Given the description of an element on the screen output the (x, y) to click on. 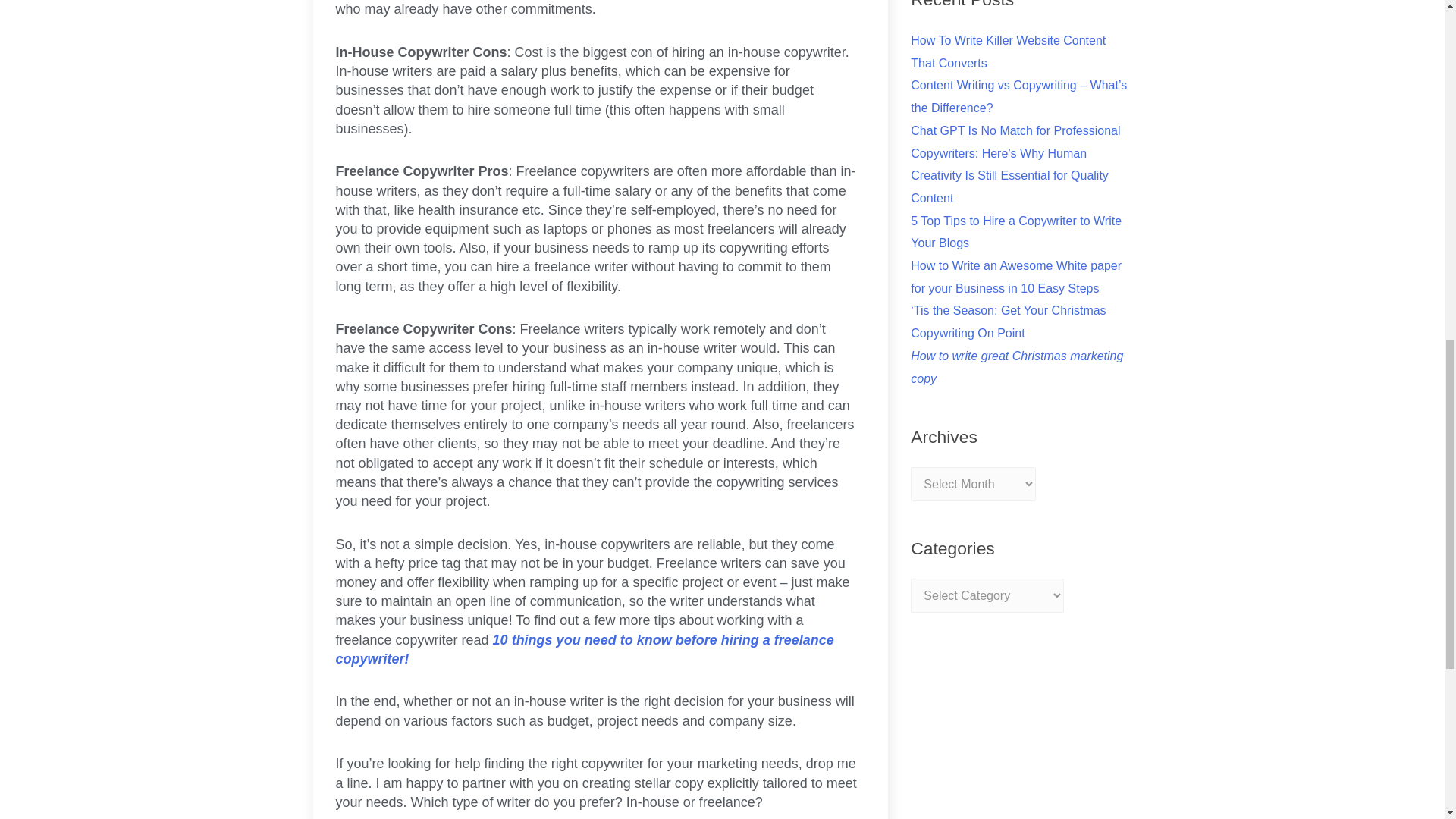
How To Write Killer Website Content That Converts (1008, 51)
5 Top Tips to Hire a Copywriter to Write Your Blogs (1016, 232)
